Given the description of an element on the screen output the (x, y) to click on. 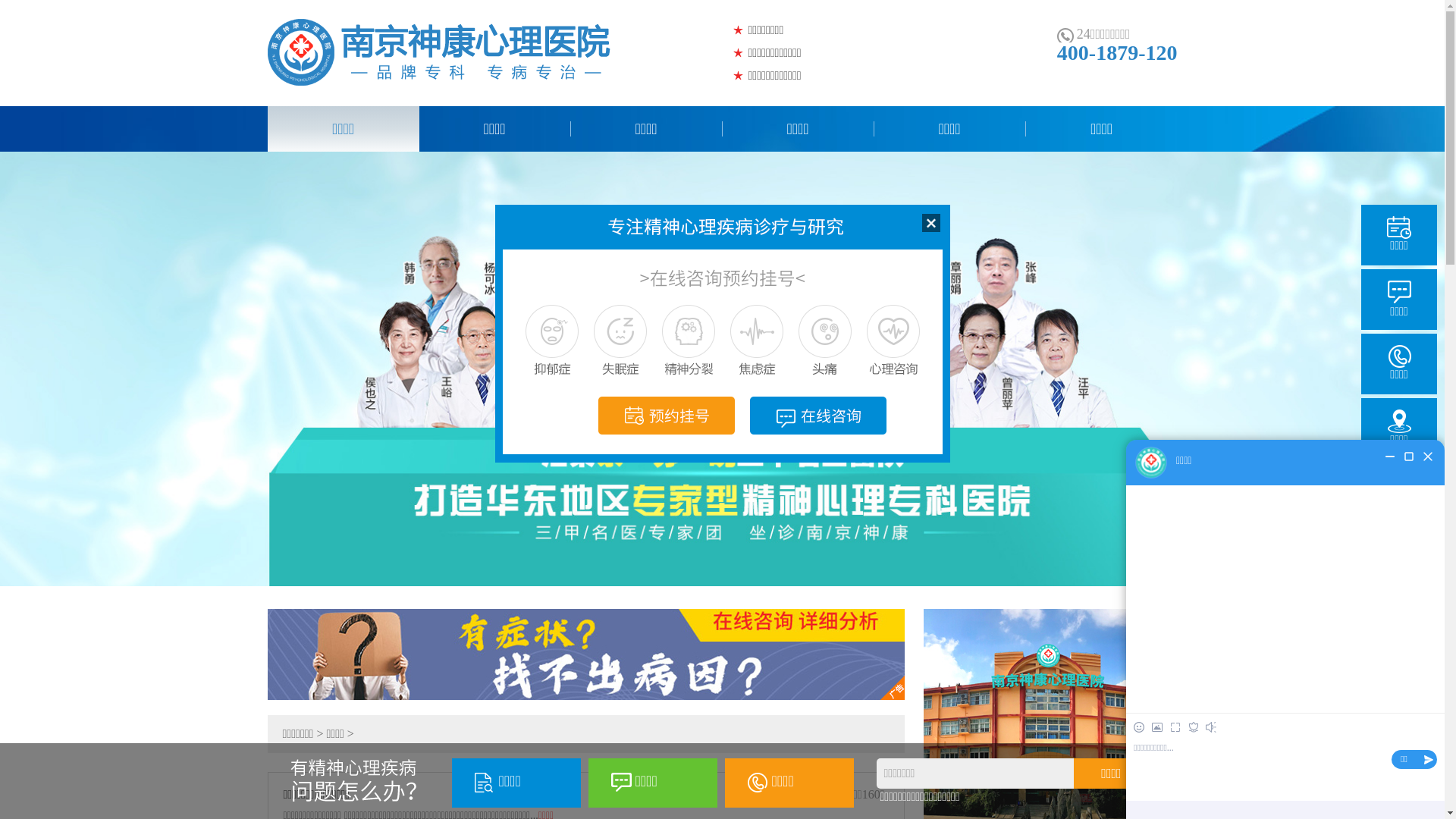
400-1879-120 Element type: text (1117, 52)
